Given the description of an element on the screen output the (x, y) to click on. 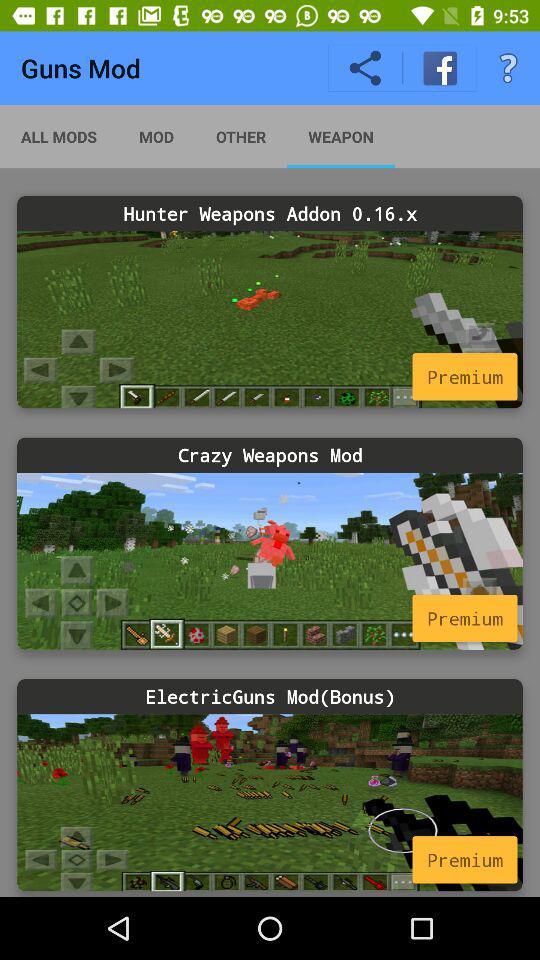
click weapon icon (340, 136)
